Given the description of an element on the screen output the (x, y) to click on. 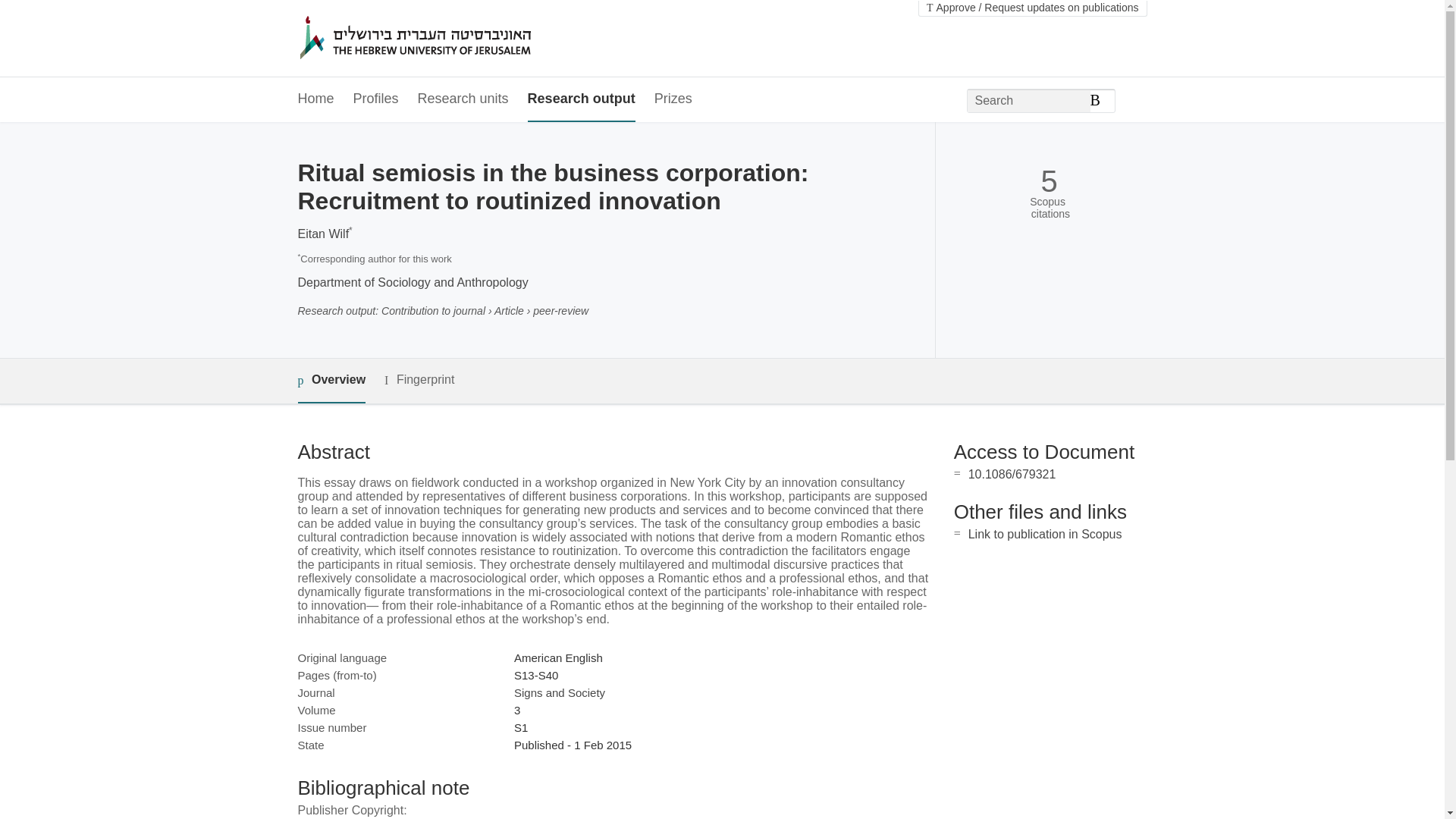
Research output (580, 99)
Department of Sociology and Anthropology (412, 282)
Research units (462, 99)
Overview (331, 380)
Signs and Society (559, 692)
Fingerprint (419, 380)
Link to publication in Scopus (1045, 533)
Eitan Wilf (323, 233)
Home (315, 99)
Profiles (375, 99)
Prizes (673, 99)
The Hebrew University of Jerusalem Home (447, 38)
